Given the description of an element on the screen output the (x, y) to click on. 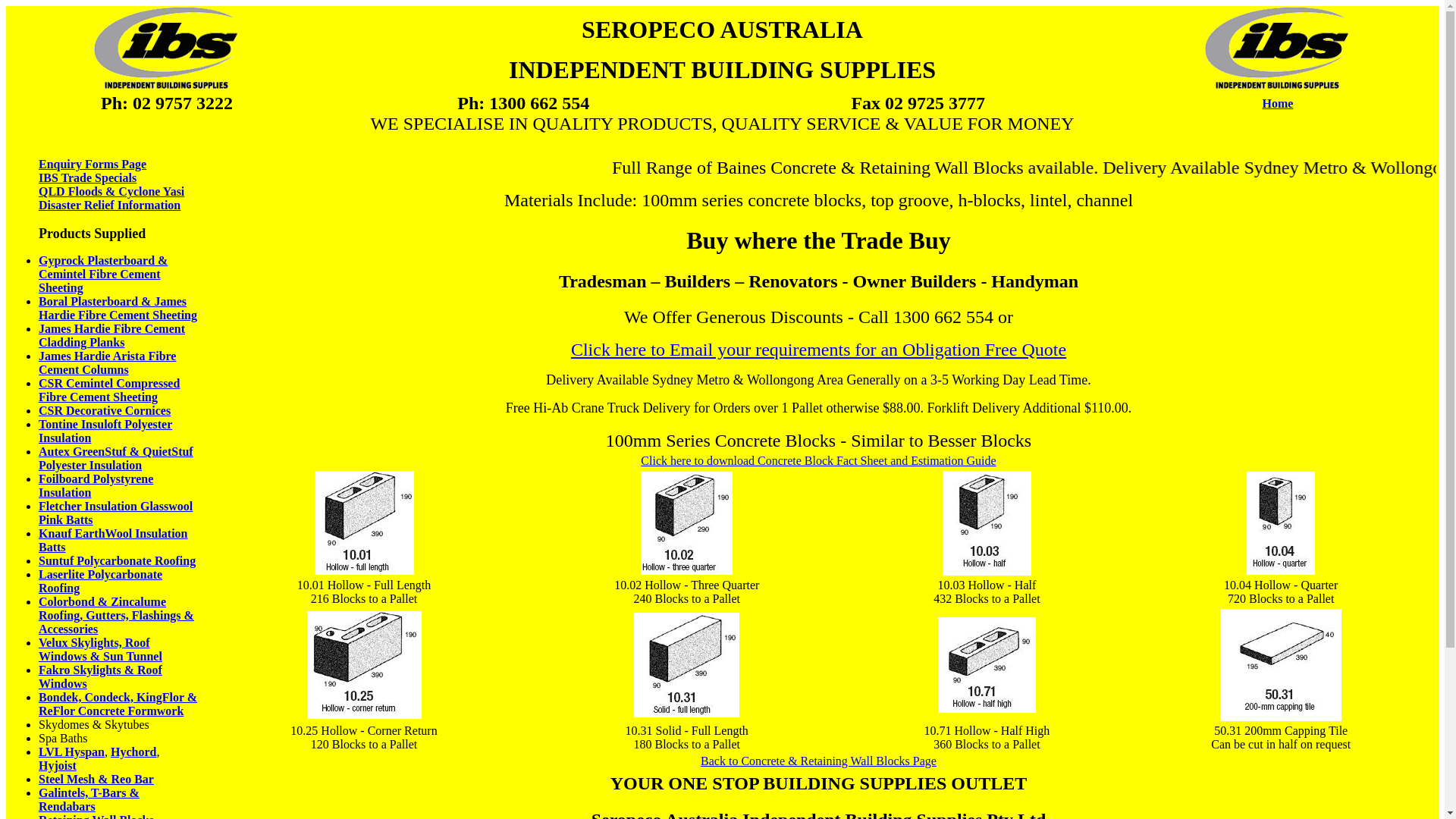
Autex GreenStuf & QuietStuf Polyester Insulation Element type: text (115, 458)
CSR Decorative Cornices Element type: text (104, 410)
IBS Trade Specials Element type: text (92, 184)
Steel Mesh & Reo Bar Element type: text (95, 778)
Suntuf Polycarbonate Roofing Element type: text (116, 560)
James Hardie Arista Fibre Cement Columns Element type: text (106, 362)
James Hardie Fibre Cement Cladding Planks Element type: text (111, 335)
Fletcher Insulation Glasswool Pink Batts Element type: text (115, 512)
Laserlite Polycarbonate Roofing Element type: text (100, 580)
CSR Cemintel Compressed Fibre Cement Sheeting Element type: text (108, 389)
QLD Floods & Cyclone Yasi Disaster Relief Information Element type: text (111, 198)
Foilboard Polystyrene Insulation Element type: text (95, 485)
Knauf EarthWool Insulation Batts Element type: text (113, 540)
Home Element type: text (1277, 103)
Back to Concrete & Retaining Wall Blocks Page Element type: text (818, 760)
Tontine Insuloft Polyester Insulation Element type: text (105, 430)
Velux Skylights, Roof Windows & Sun Tunnel Element type: text (100, 649)
Enquiry Forms Page Element type: text (92, 163)
Fakro Skylights & Roof Windows Element type: text (100, 676)
Hychord Element type: text (133, 751)
Bondek, Condeck, KingFlor & ReFlor Concrete Formwork Element type: text (117, 703)
Hyjoist Element type: text (57, 765)
Galintels, T-Bars & Rendabars Element type: text (88, 799)
LVL Hyspan Element type: text (71, 751)
Gyprock Plasterboard & Cemintel Fibre Cement Sheeting Element type: text (102, 274)
Boral Plasterboard & James Hardie Fibre Cement Sheeting Element type: text (117, 307)
